Given the description of an element on the screen output the (x, y) to click on. 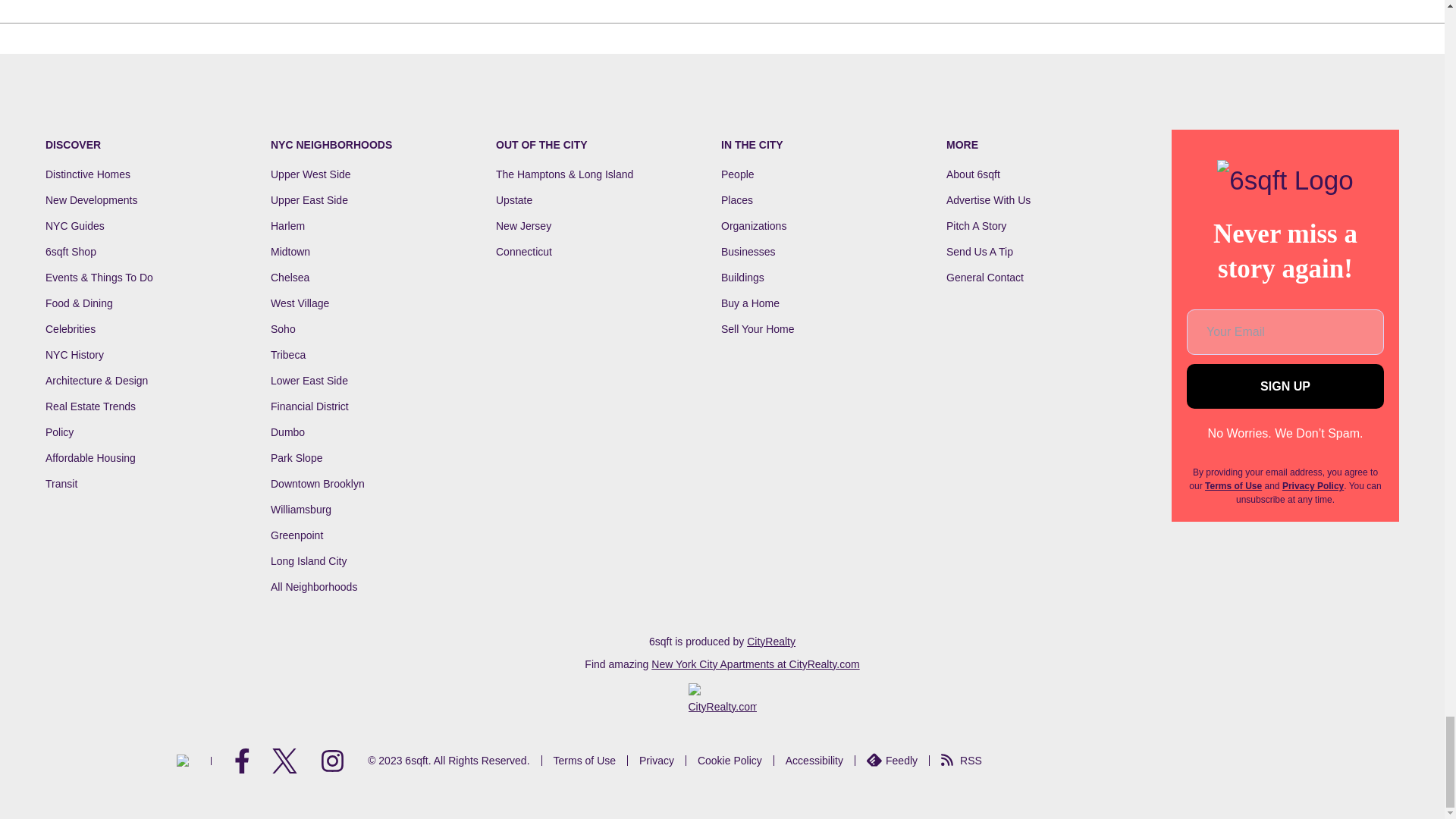
SIGN UP (1285, 385)
